Given the description of an element on the screen output the (x, y) to click on. 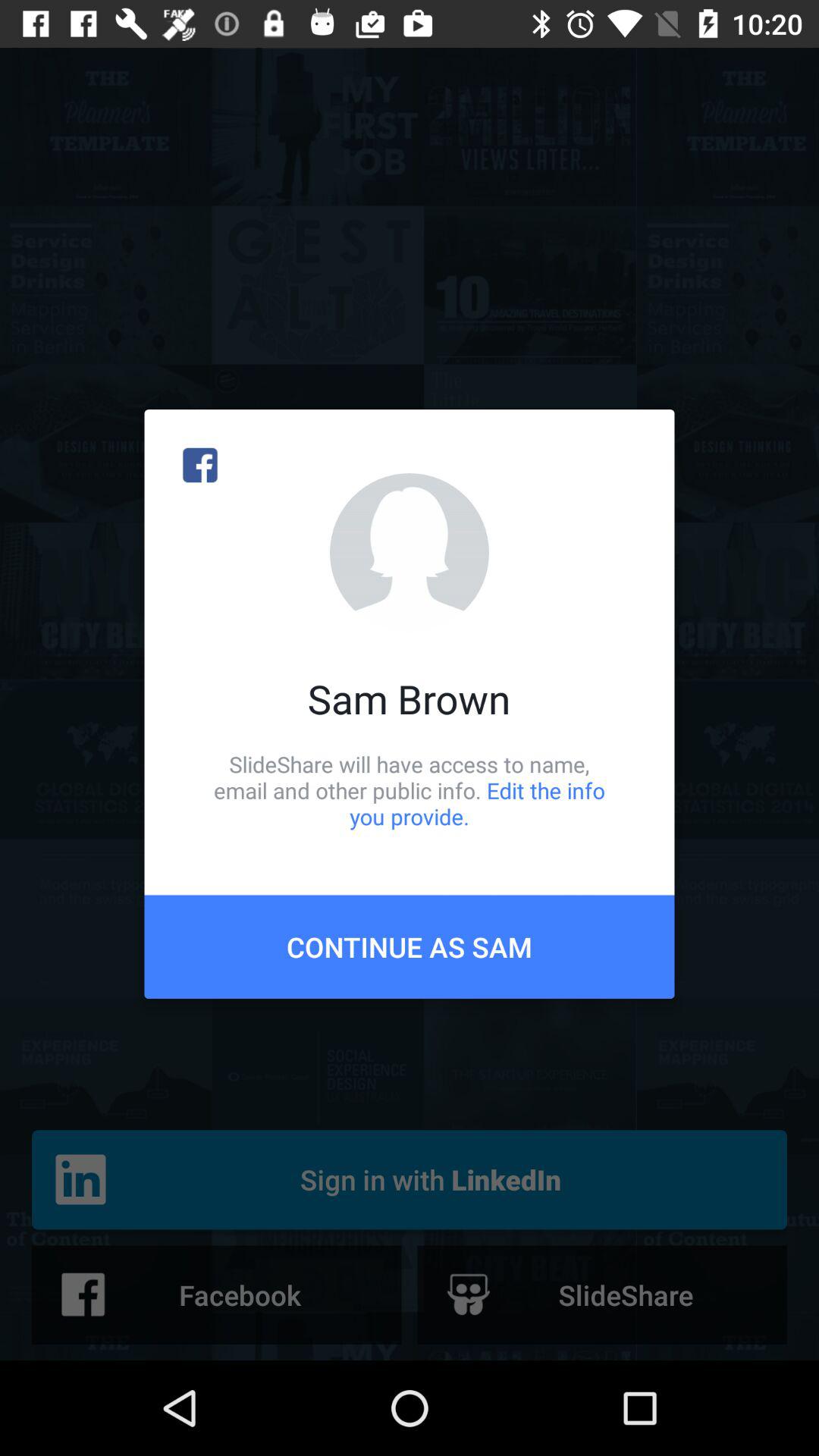
choose the item above continue as sam icon (409, 790)
